Given the description of an element on the screen output the (x, y) to click on. 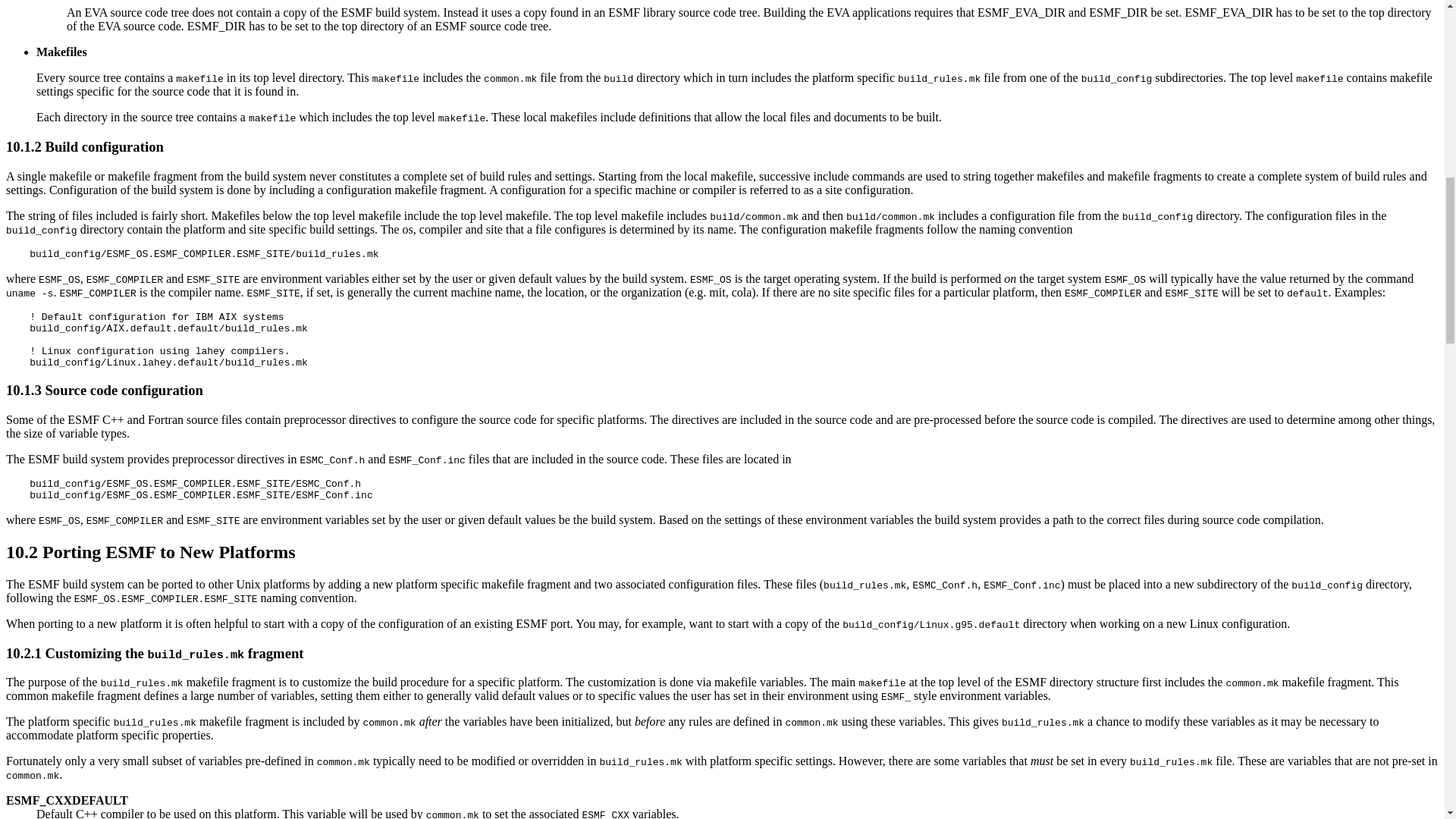
10.1.2 Build configuration (84, 146)
10.1.3 Source code configuration (104, 390)
10.2 Porting ESMF to New Platforms (150, 551)
